Given the description of an element on the screen output the (x, y) to click on. 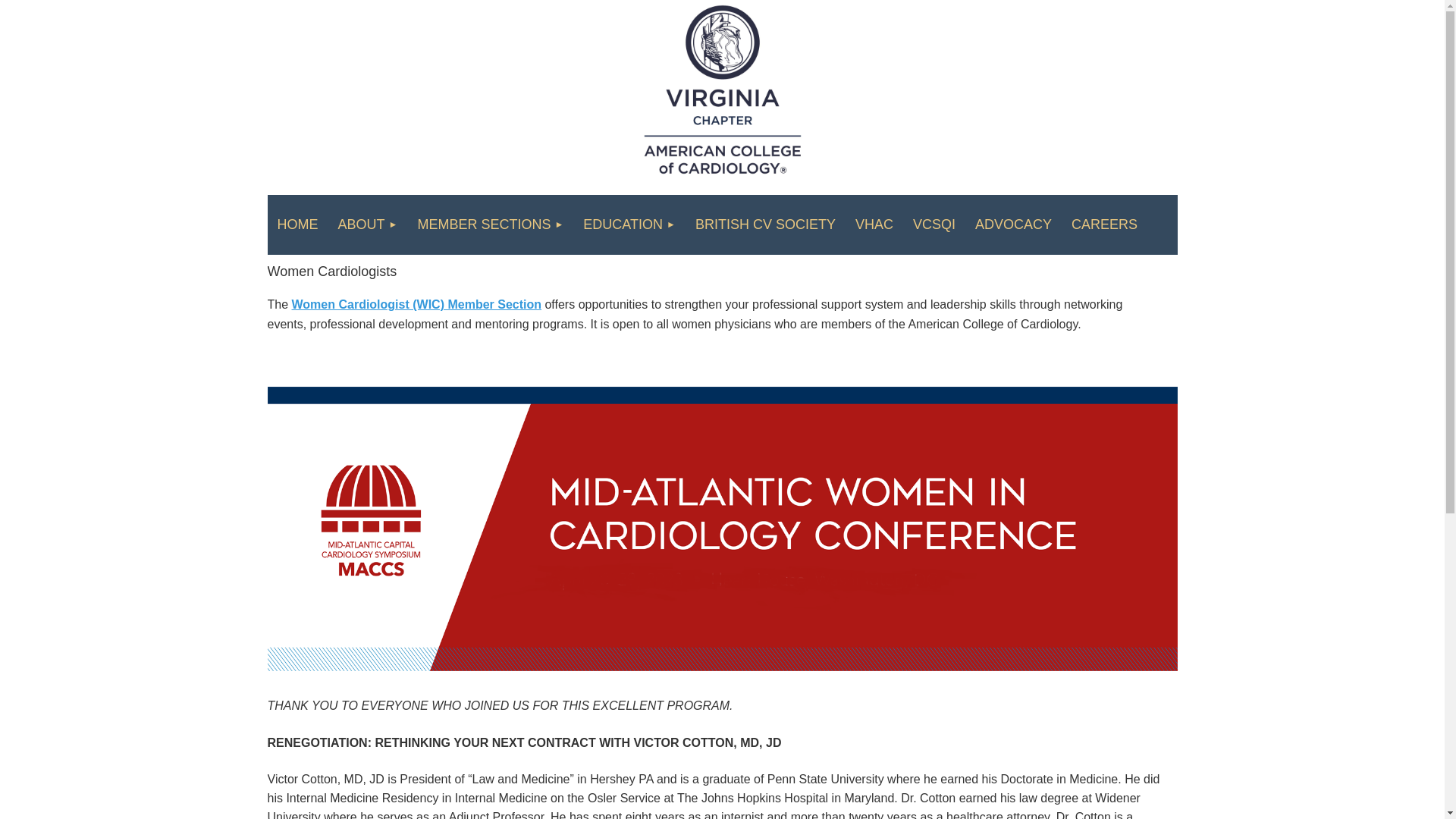
MEMBER SECTIONS (490, 224)
HOME (296, 224)
ABOUT (367, 224)
